Given the description of an element on the screen output the (x, y) to click on. 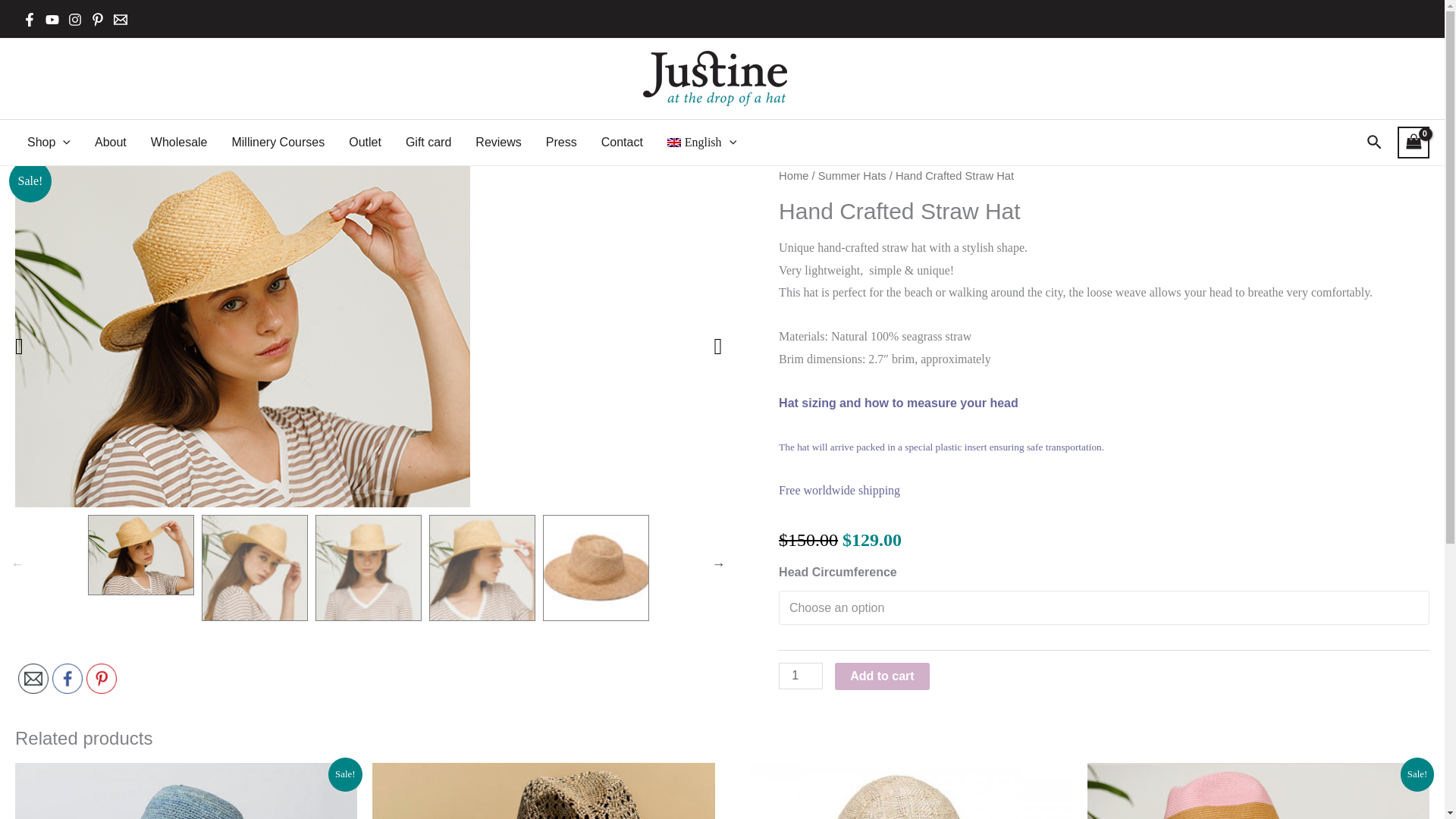
Pinterest (100, 678)
Outlet (364, 142)
About (110, 142)
1 (800, 675)
Contact (622, 142)
Facebook (67, 678)
Press (561, 142)
English (701, 142)
Follow by Email (32, 678)
Gift card (428, 142)
Millinery Courses (277, 142)
Wholesale (178, 142)
Reviews (497, 142)
Shop (48, 142)
English (701, 142)
